Given the description of an element on the screen output the (x, y) to click on. 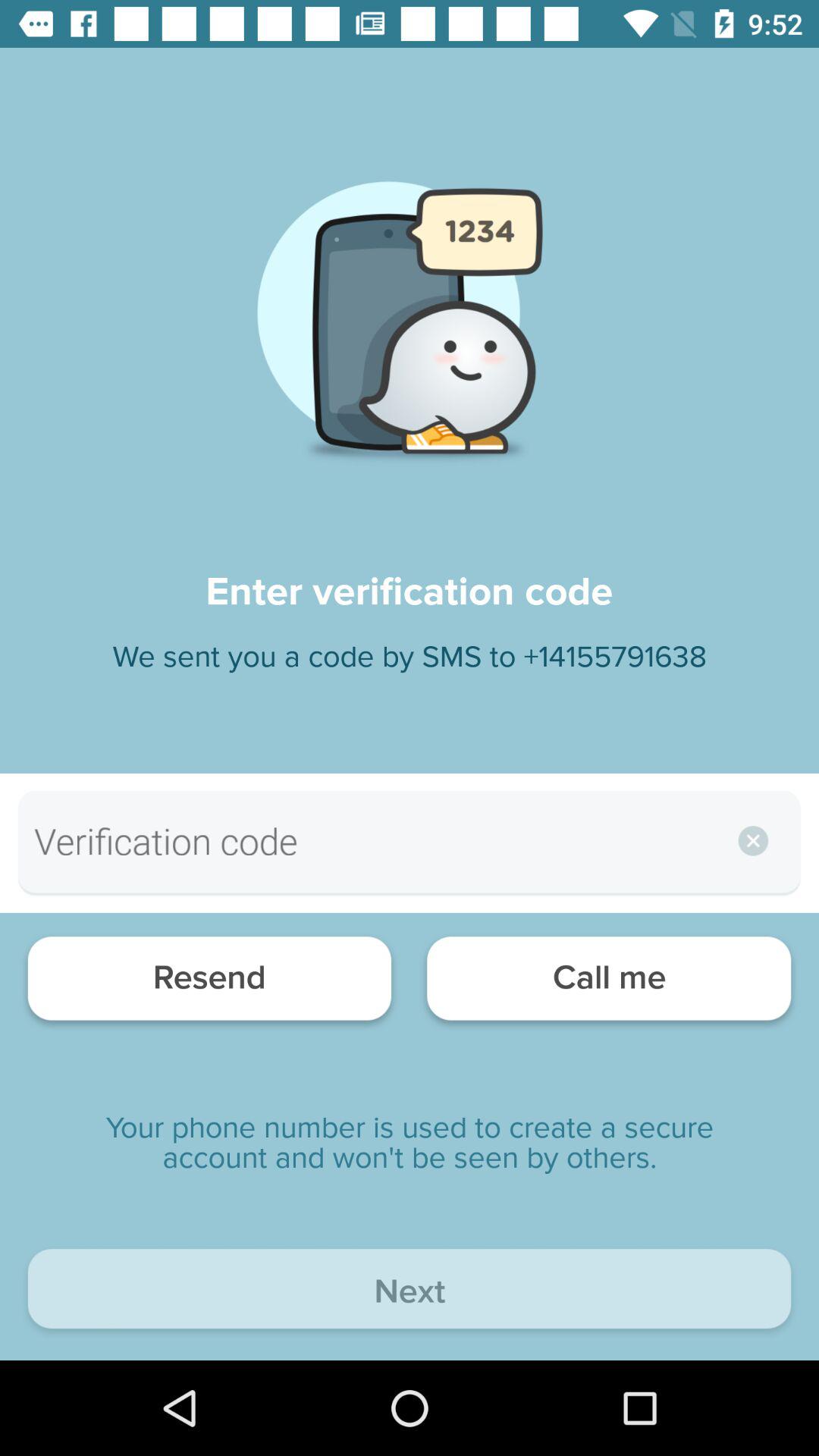
press the next (409, 1292)
